Given the description of an element on the screen output the (x, y) to click on. 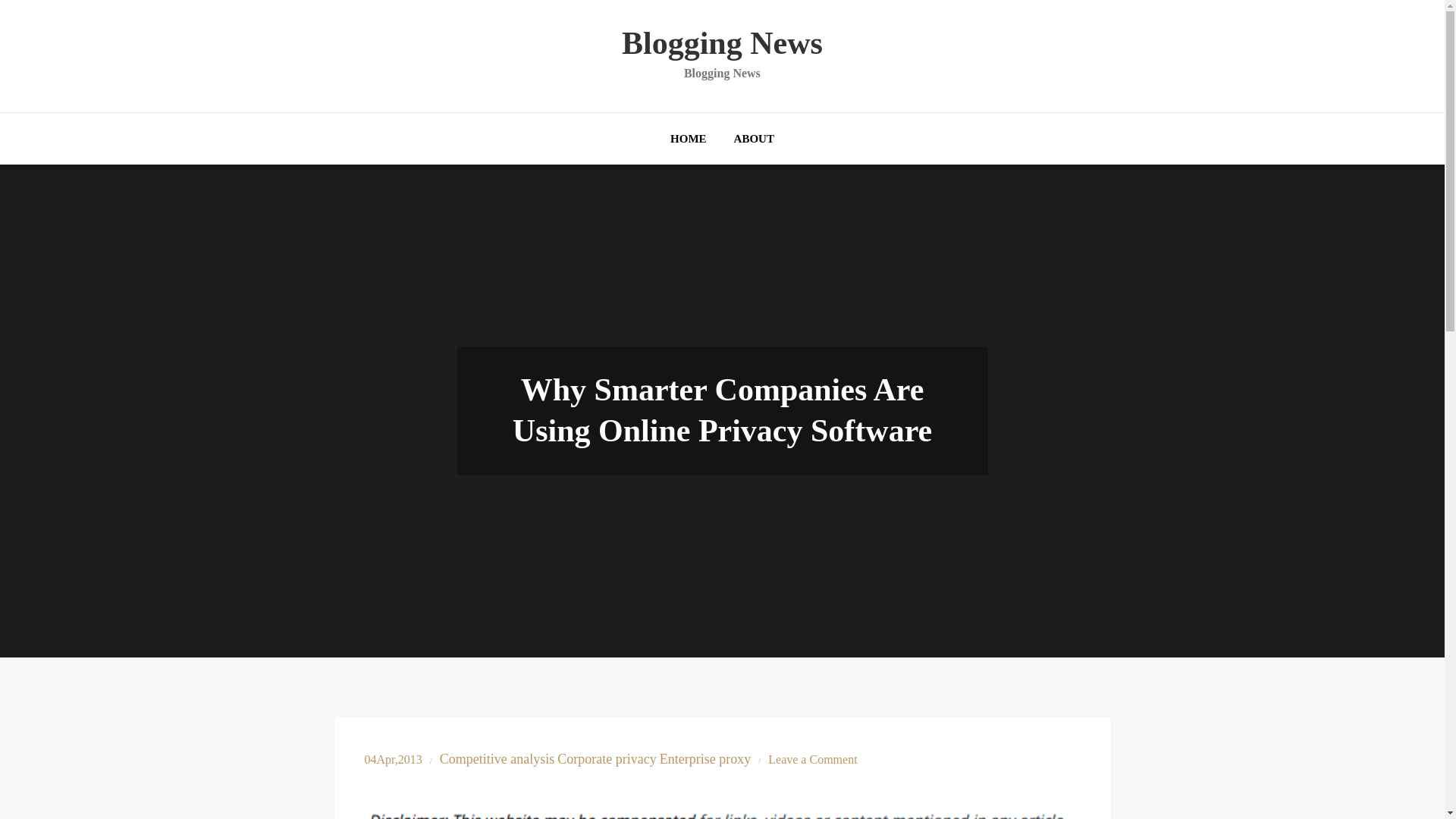
Corporate privacy (606, 758)
04Apr,2013 (393, 758)
HOME (688, 138)
Competitive analysis (496, 758)
Enterprise proxy (705, 758)
Blogging News (721, 42)
ABOUT (753, 138)
